Given the description of an element on the screen output the (x, y) to click on. 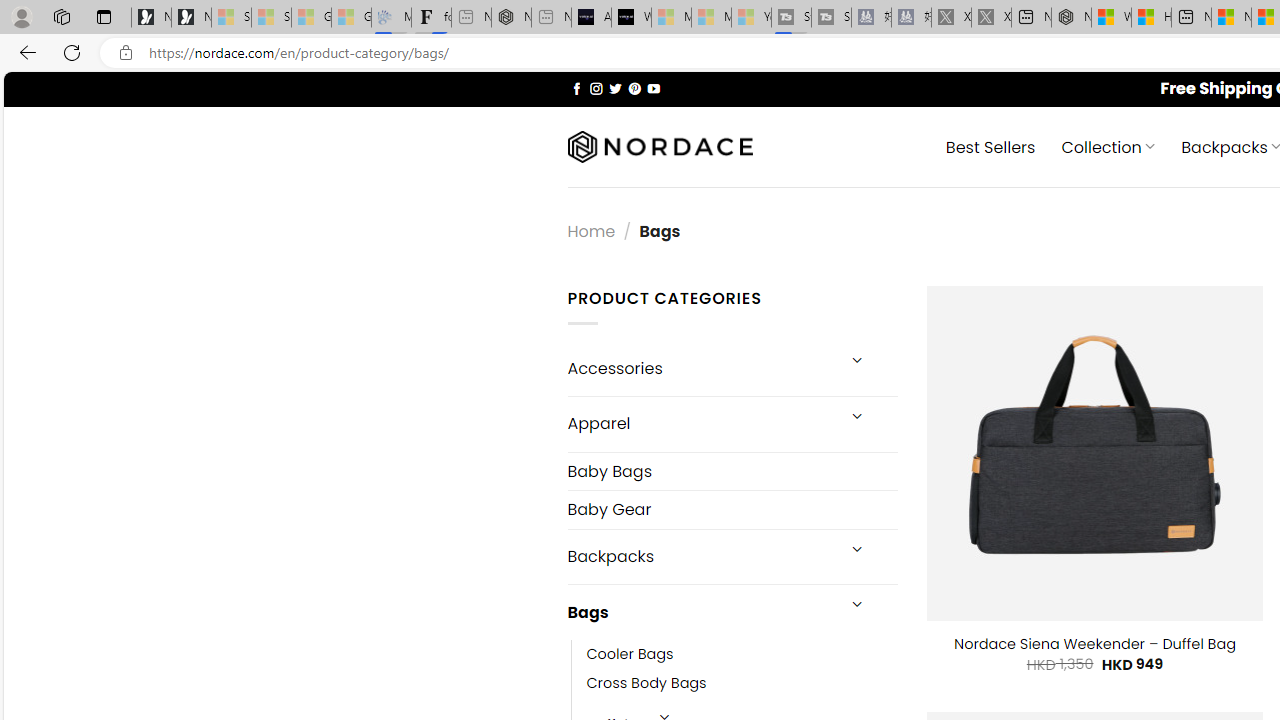
Nordace - My Account (1071, 17)
X - Sleeping (991, 17)
Wildlife - MSN (1111, 17)
Backpacks (700, 556)
Nordace - #1 Japanese Best-Seller - Siena Smart Backpack (511, 17)
Newsletter Sign Up (191, 17)
Cooler Bags (630, 655)
Microsoft Start Sports - Sleeping (671, 17)
Follow on Twitter (615, 88)
Follow on Pinterest (634, 88)
